Given the description of an element on the screen output the (x, y) to click on. 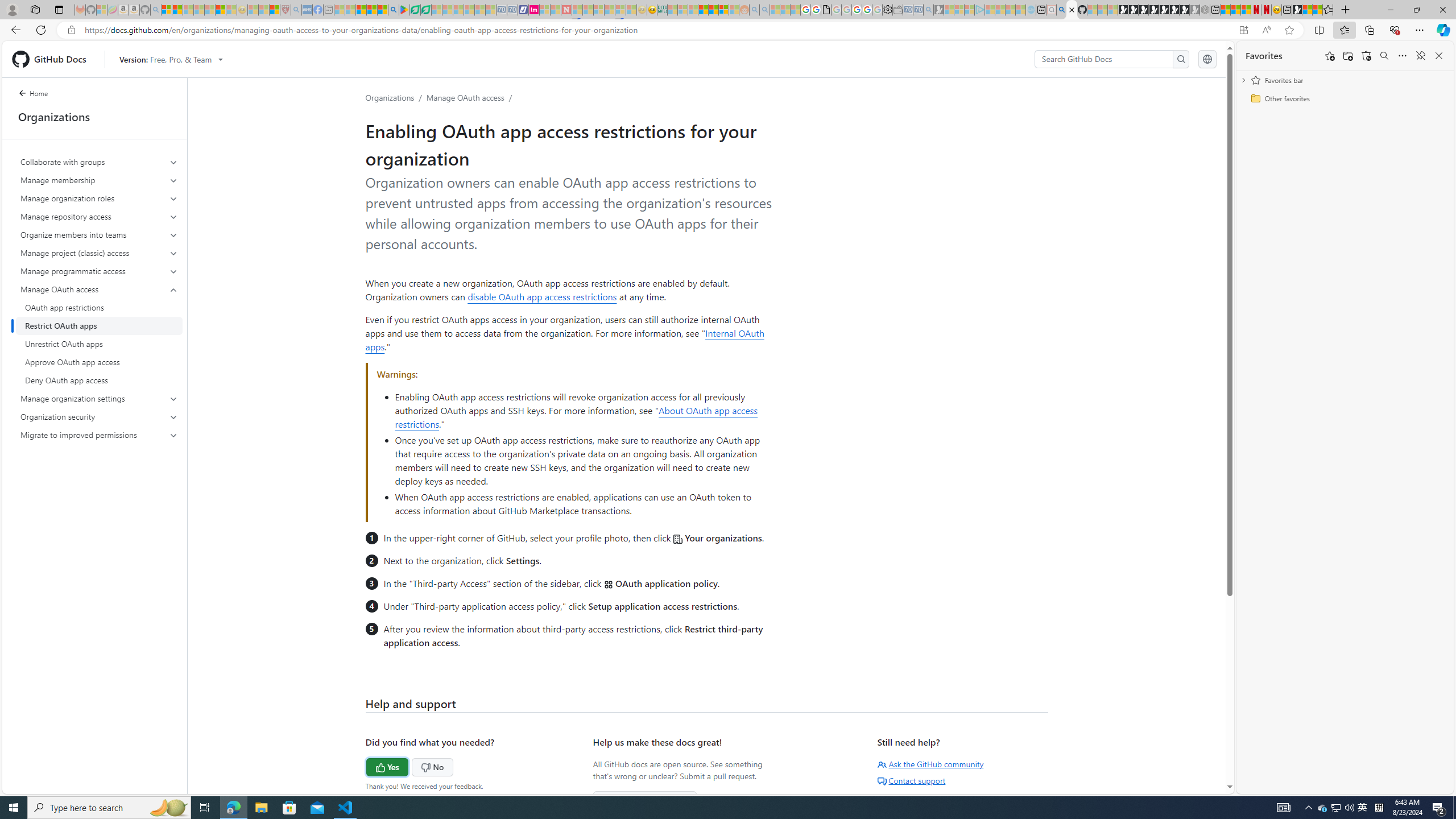
Scroll to top (1200, 768)
Manage OAuth access (99, 334)
Yes (365, 765)
